Given the description of an element on the screen output the (x, y) to click on. 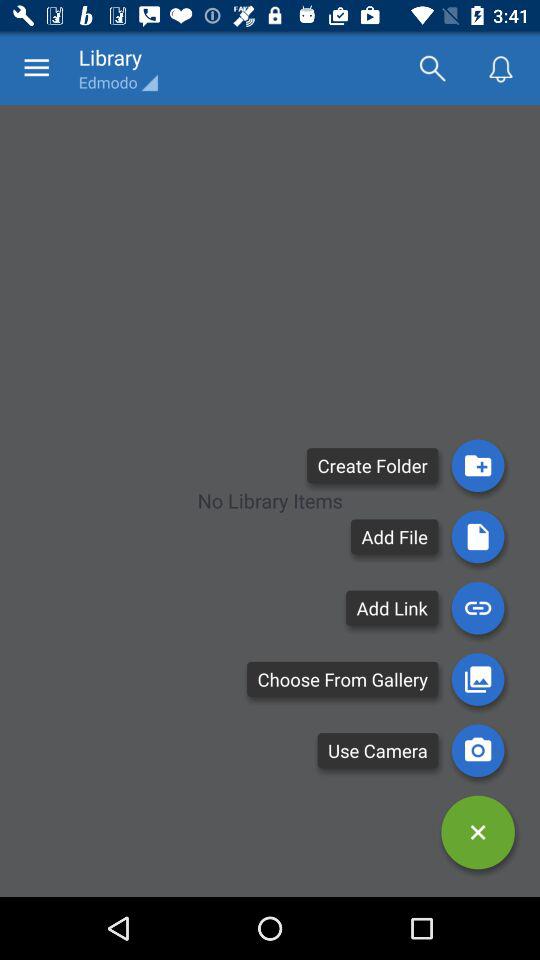
toggle to camera (478, 750)
